Given the description of an element on the screen output the (x, y) to click on. 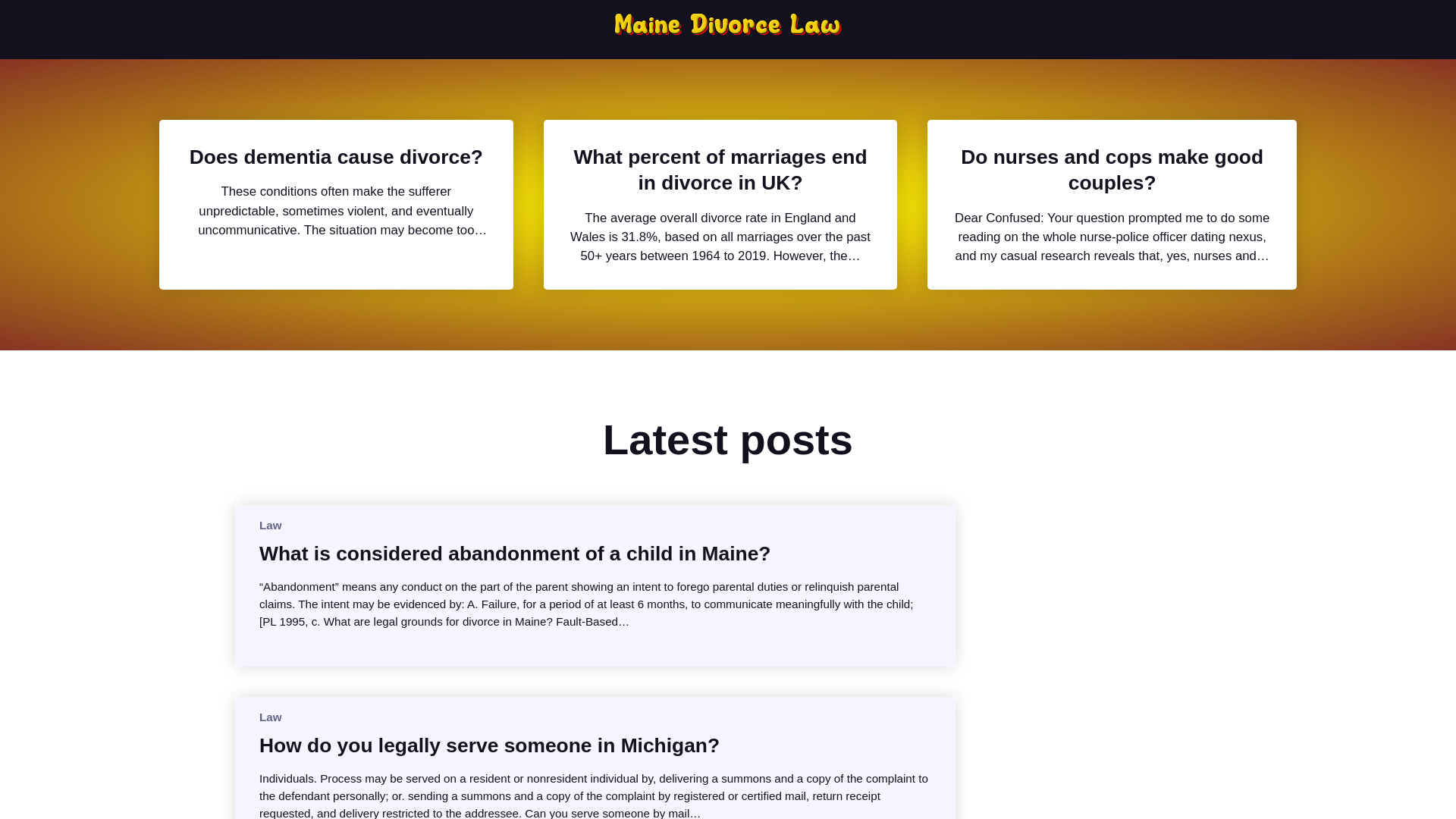
What is considered abandonment of a child in Maine? (515, 553)
Law (270, 524)
Does dementia cause divorce? (336, 156)
Do nurses and cops make good couples? (1112, 170)
What percent of marriages end in divorce in UK? (720, 170)
Law (270, 716)
How do you legally serve someone in Michigan? (489, 745)
